Given the description of an element on the screen output the (x, y) to click on. 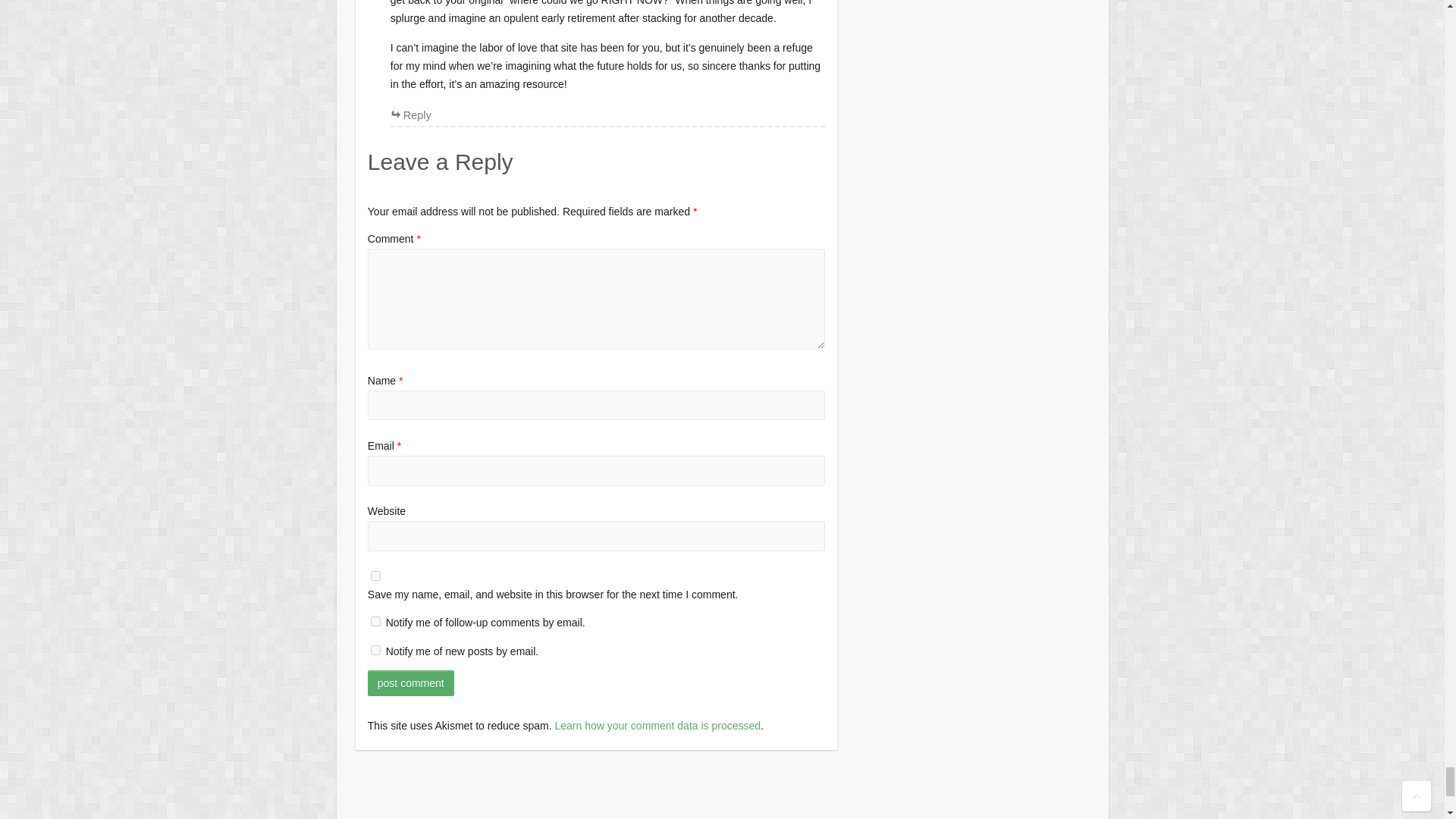
yes (375, 575)
subscribe (375, 650)
subscribe (375, 621)
Post Comment (411, 683)
